Given the description of an element on the screen output the (x, y) to click on. 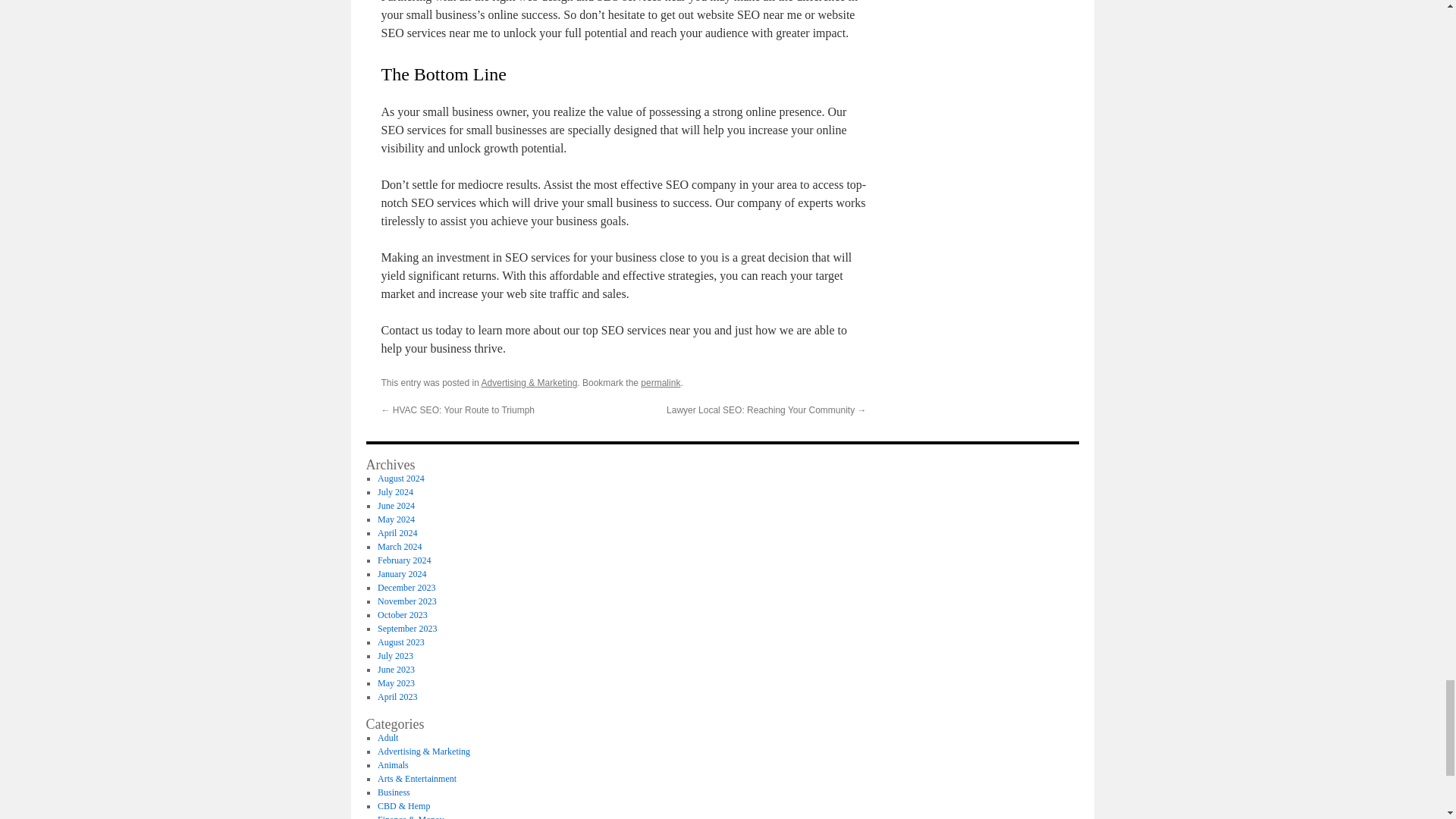
January 2024 (401, 573)
December 2023 (406, 587)
Adult (387, 737)
Animals (393, 765)
August 2023 (401, 642)
February 2024 (403, 560)
July 2023 (395, 655)
May 2023 (395, 683)
June 2023 (395, 669)
April 2023 (396, 696)
